Given the description of an element on the screen output the (x, y) to click on. 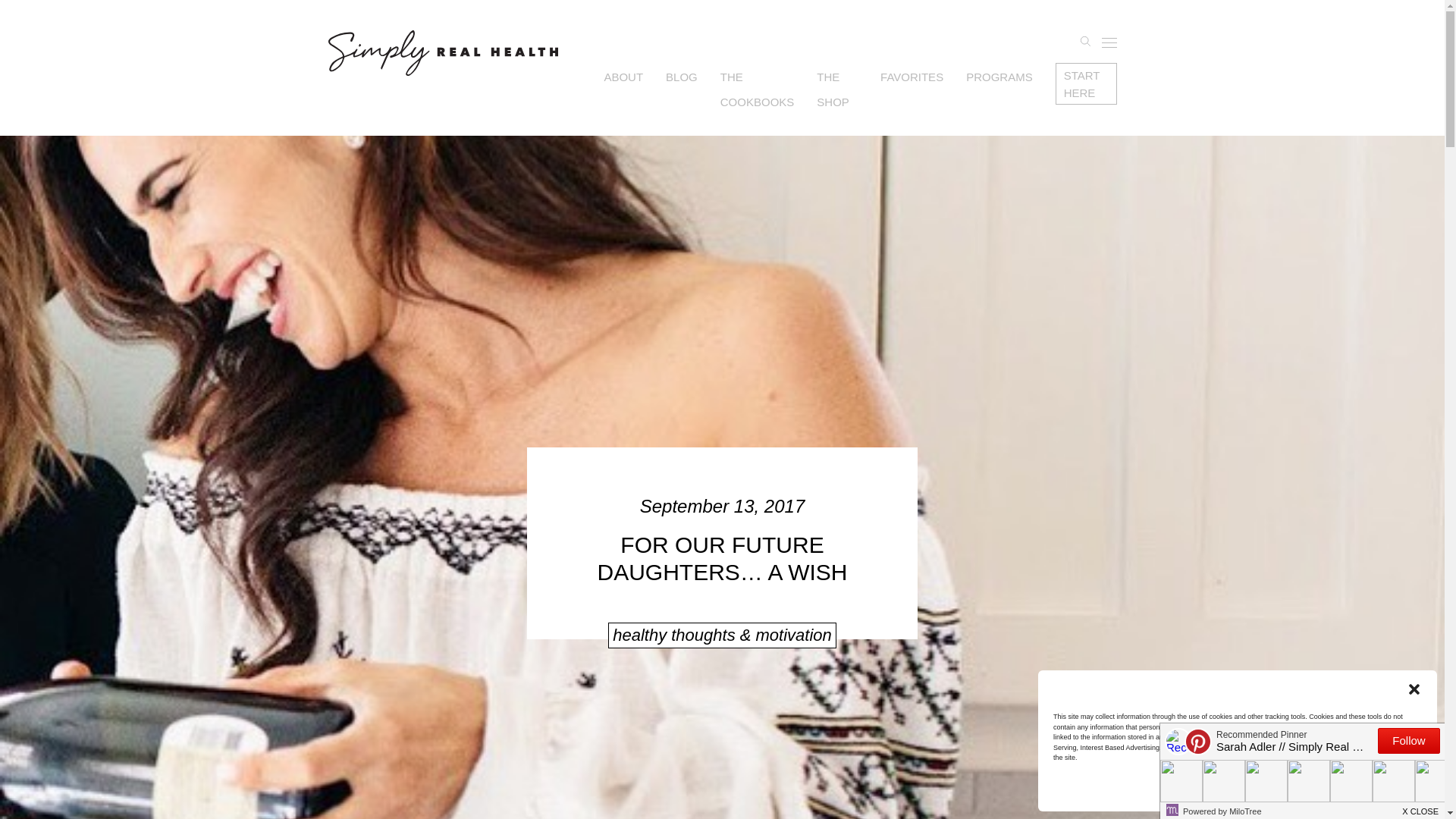
ABOUT (623, 76)
BLOG (681, 76)
Privacy Policy (1271, 795)
Opt-out preferences (1212, 795)
PROGRAMS (999, 76)
THE COOKBOOKS (757, 89)
START HERE (1085, 83)
FAVORITES (911, 76)
